Given the description of an element on the screen output the (x, y) to click on. 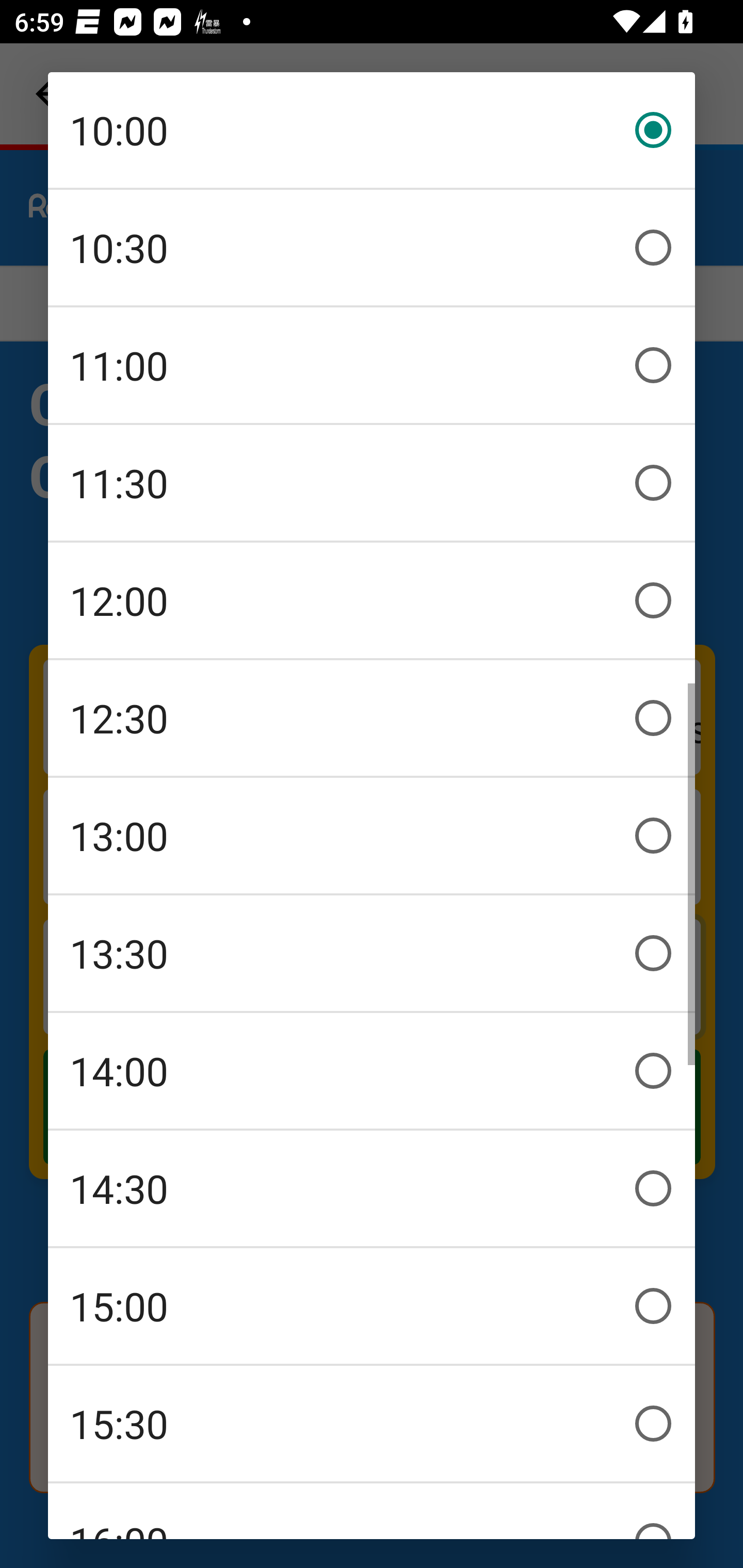
10:00 (371, 130)
10:30 (371, 247)
11:00 (371, 365)
11:30 (371, 482)
12:00 (371, 600)
12:30 (371, 718)
13:00 (371, 835)
13:30 (371, 953)
14:00 (371, 1070)
14:30 (371, 1188)
15:00 (371, 1306)
15:30 (371, 1423)
